Given the description of an element on the screen output the (x, y) to click on. 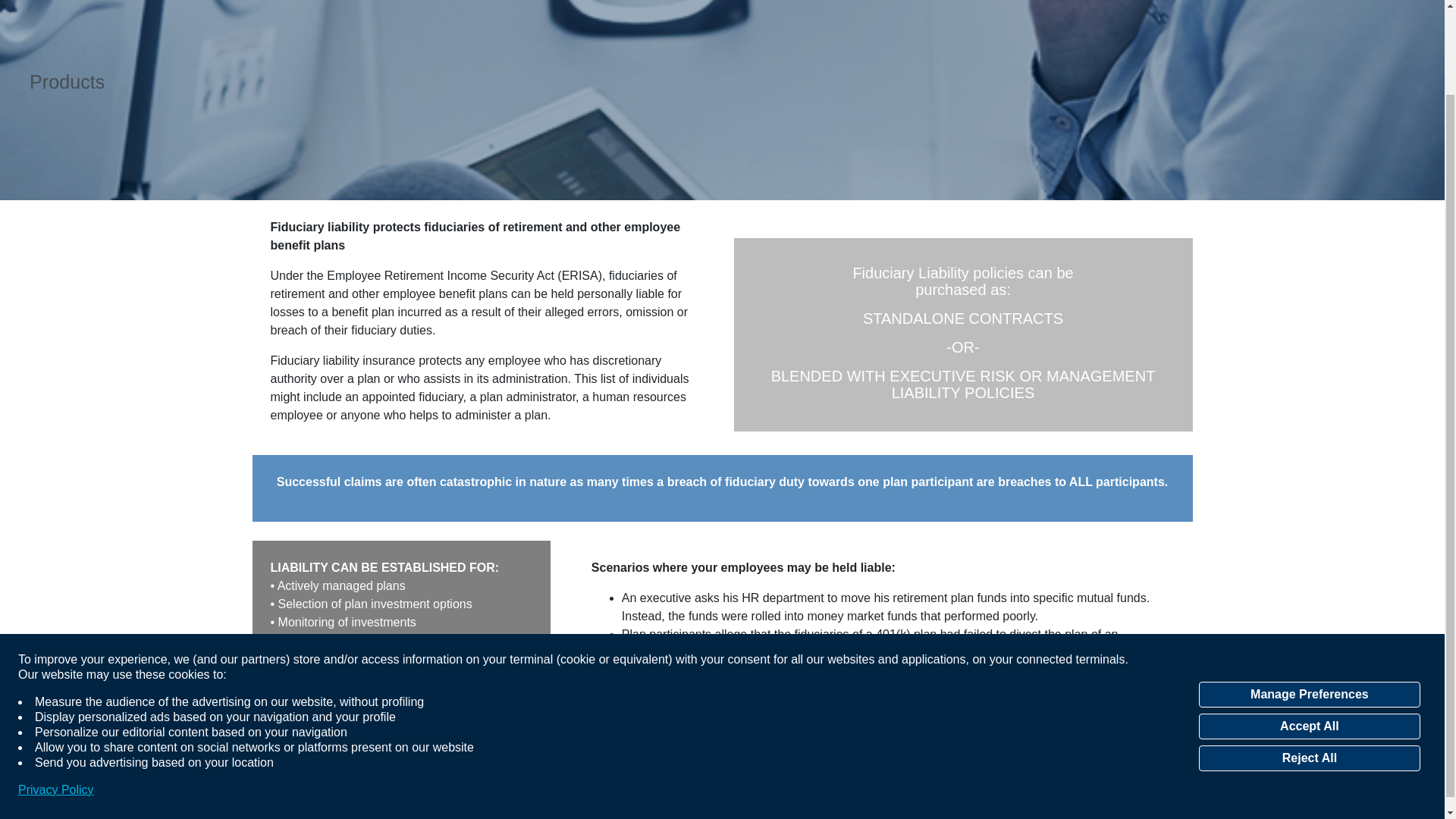
Community (60, 790)
About Us (55, 809)
Privacy Policy (55, 692)
Community (60, 790)
Reject All (1309, 660)
Accept All (1309, 628)
Products (66, 81)
About IMA Financial Group (55, 809)
Manage Preferences (1309, 596)
